Given the description of an element on the screen output the (x, y) to click on. 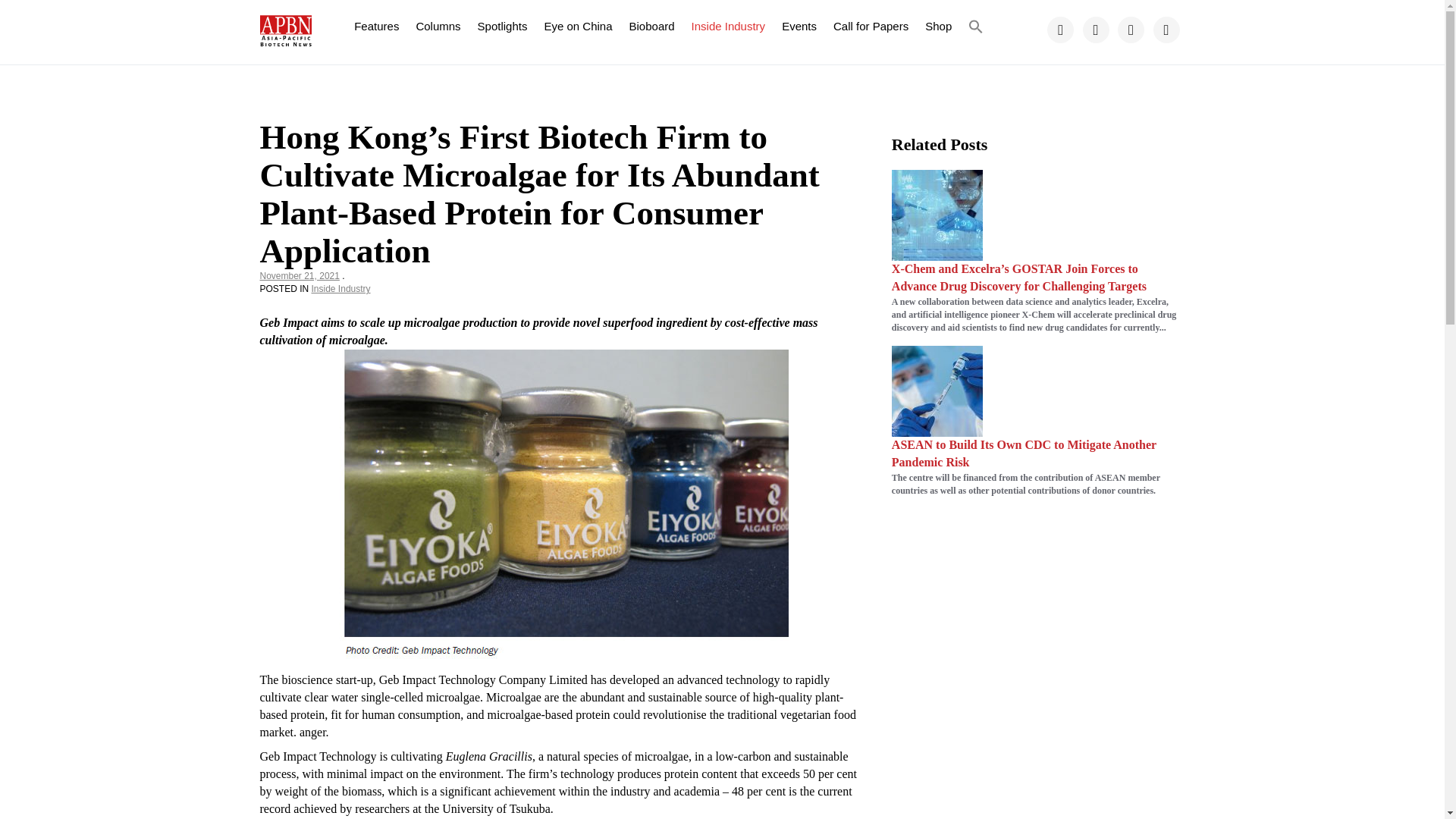
Features (376, 26)
Columns (437, 26)
Eye on China (577, 26)
Shop (938, 26)
Spotlights (501, 26)
Inside Industry (728, 26)
Bioboard (651, 26)
Events (799, 26)
Inside Industry (728, 26)
Events (799, 26)
